Given the description of an element on the screen output the (x, y) to click on. 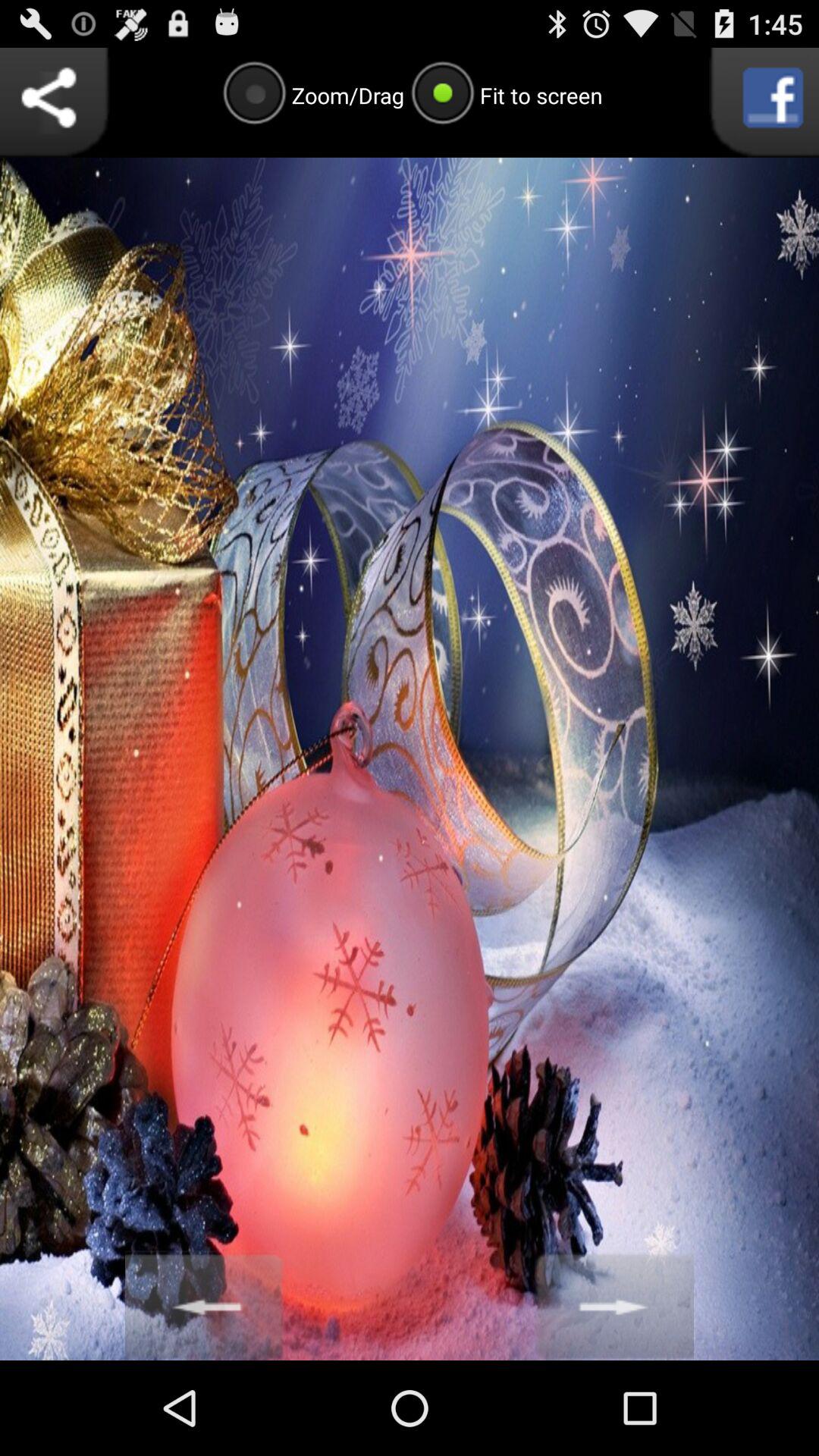
next page (614, 1305)
